Given the description of an element on the screen output the (x, y) to click on. 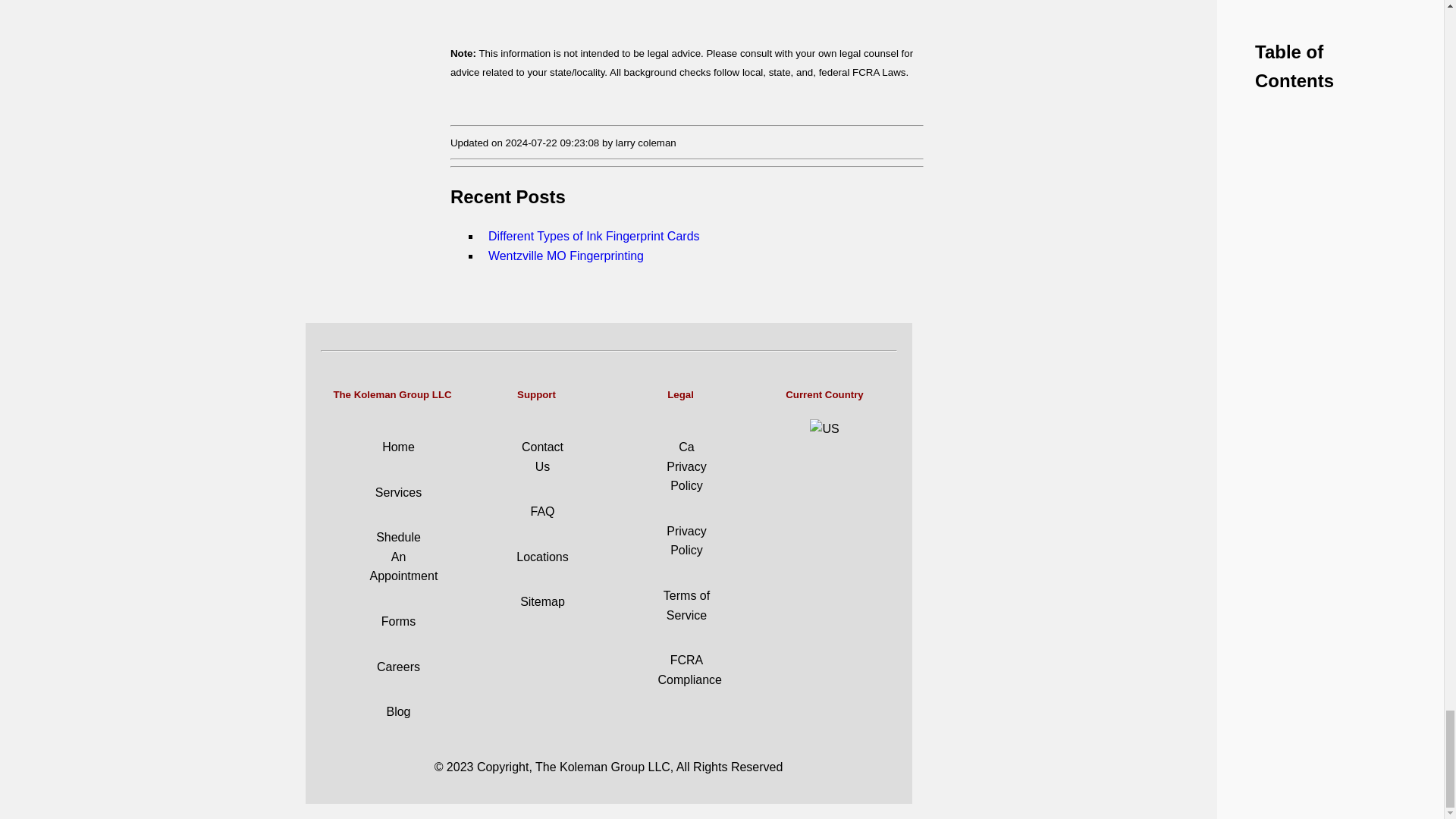
Sitemap (541, 601)
Shedule An Appointment (403, 556)
Locations (542, 556)
Careers (398, 666)
FAQ (541, 511)
Privacy Policy (686, 540)
Contact Us (542, 456)
Wentzville MO Fingerprinting (574, 246)
Forms (397, 621)
Terms of Service (686, 604)
